Given the description of an element on the screen output the (x, y) to click on. 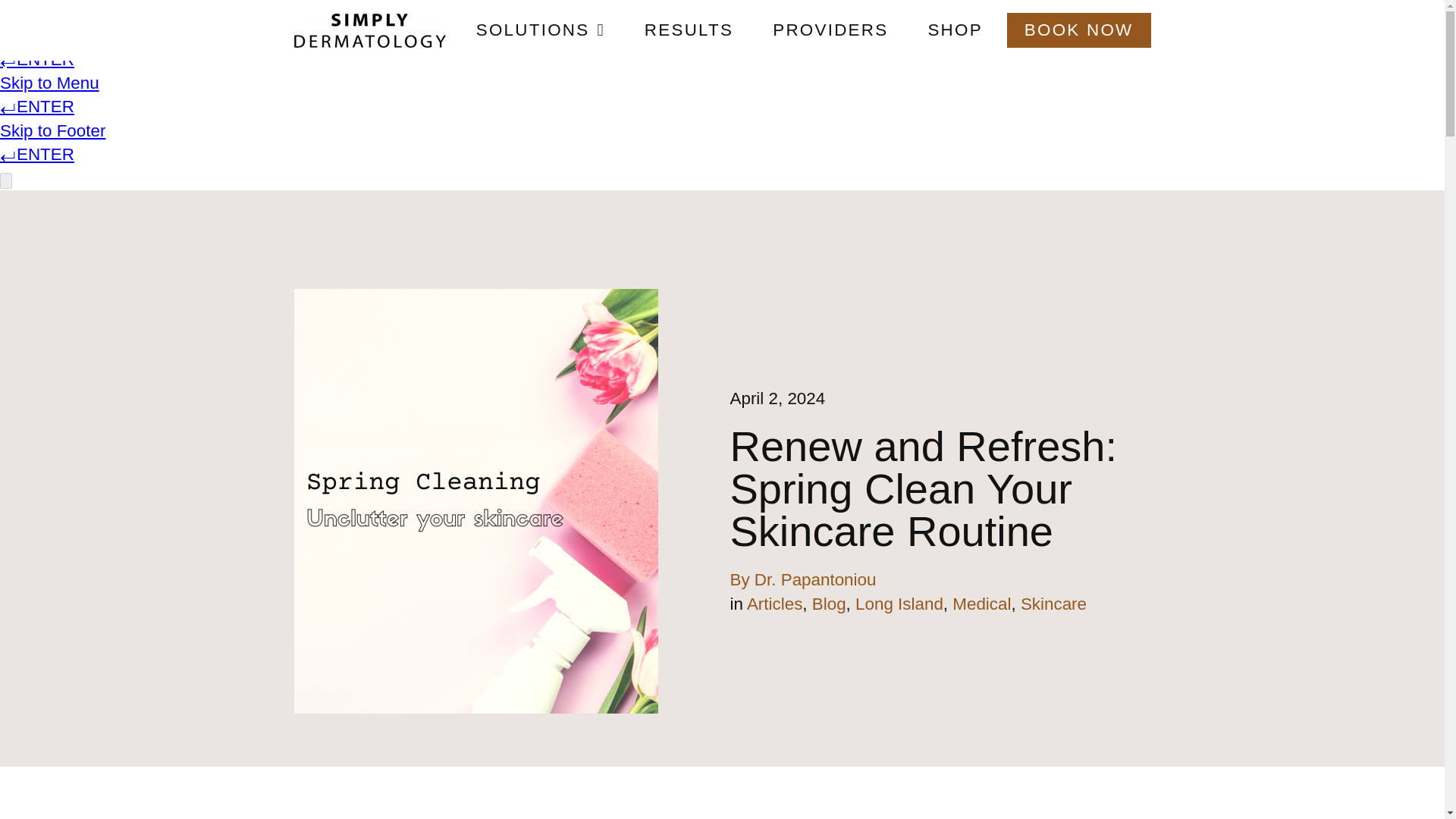
SOLUTIONS (540, 30)
BOOK NOW (1079, 30)
SHOP (954, 30)
RESULTS (688, 30)
PROVIDERS (829, 30)
